Given the description of an element on the screen output the (x, y) to click on. 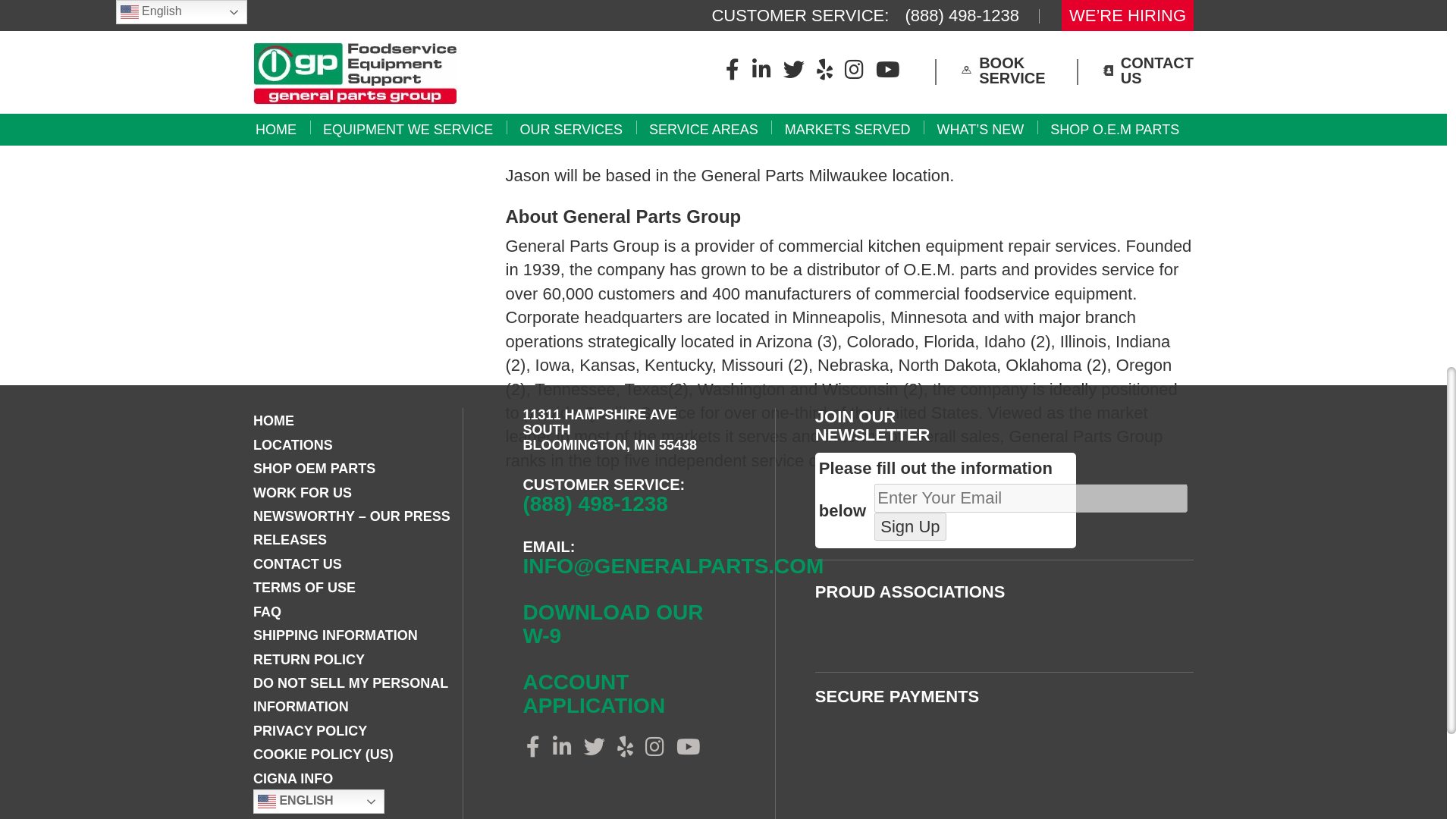
Sign Up (909, 526)
